Given the description of an element on the screen output the (x, y) to click on. 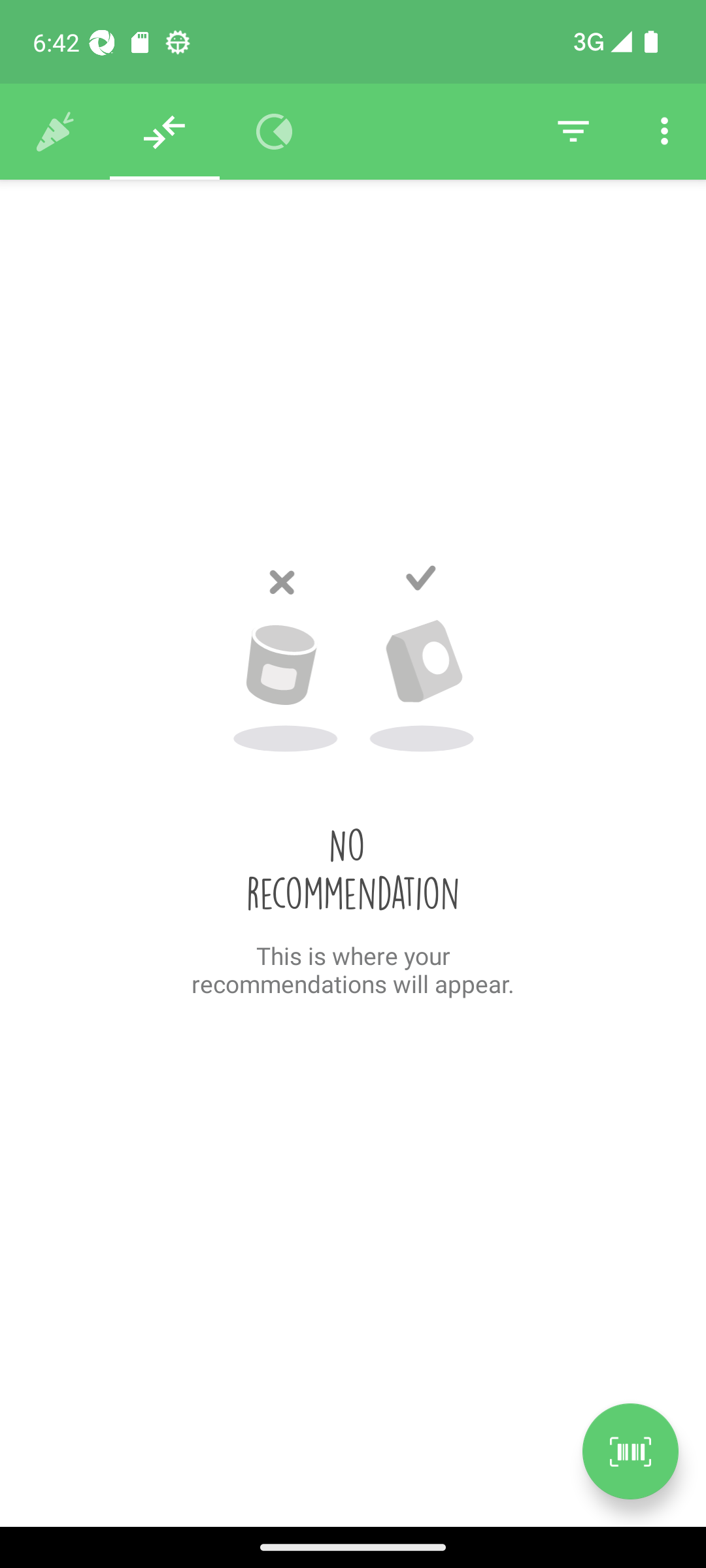
History (55, 131)
Overview (274, 131)
Filter (572, 131)
Settings (664, 131)
Scan a product (630, 1451)
